Given the description of an element on the screen output the (x, y) to click on. 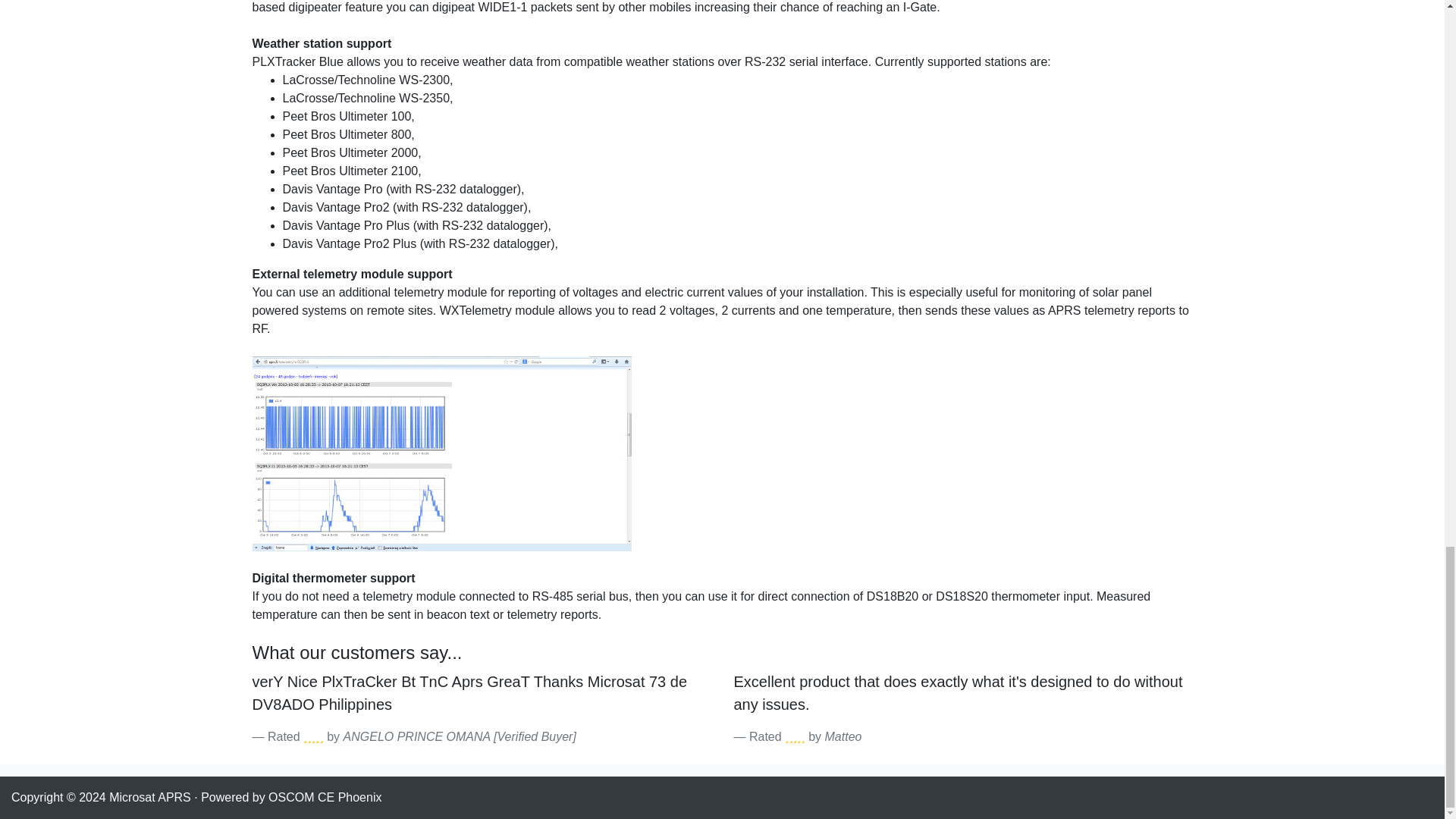
5 (794, 736)
Matteo (843, 736)
5 (312, 736)
